Given the description of an element on the screen output the (x, y) to click on. 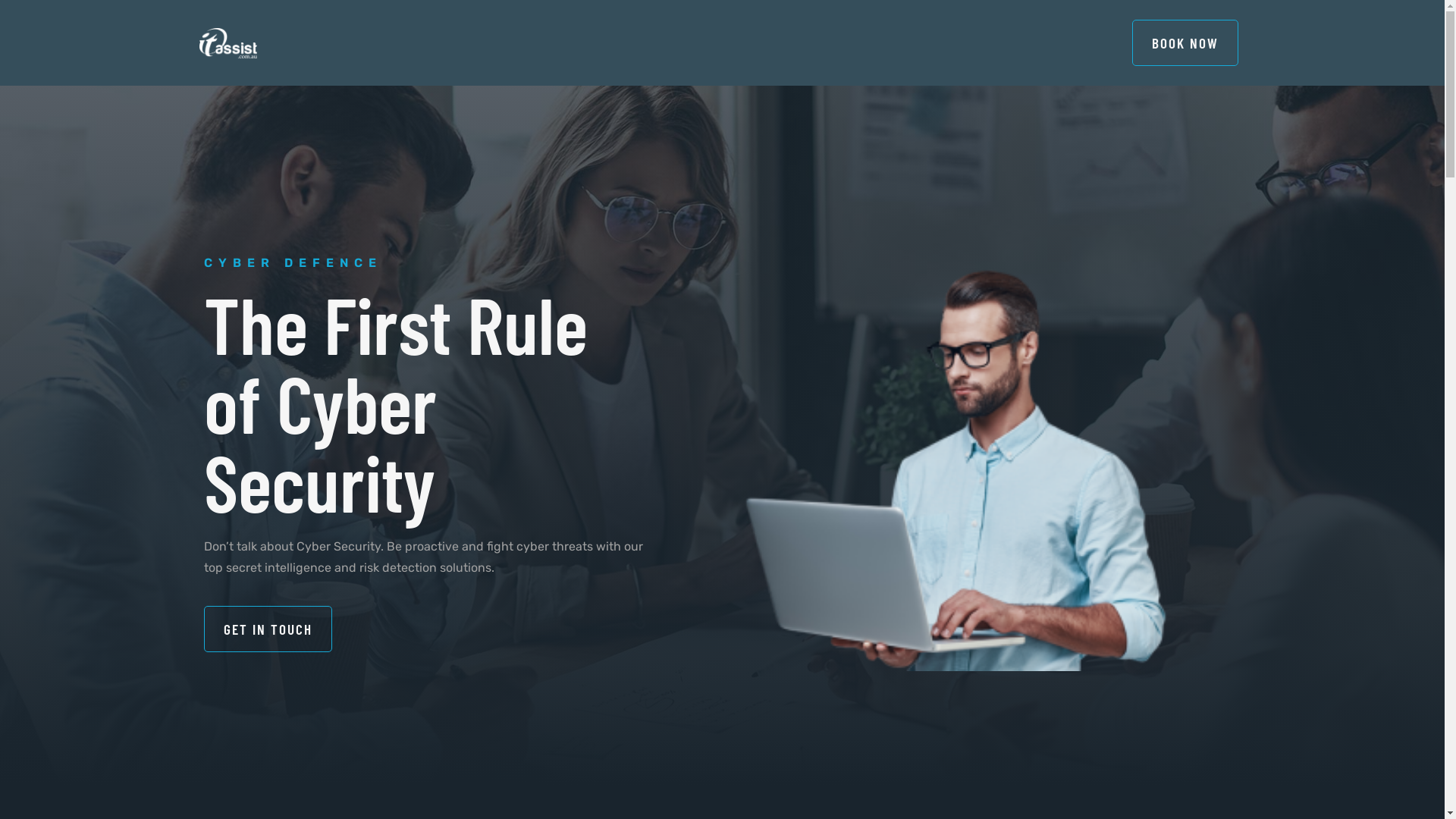
BOOK NOW Element type: text (1185, 42)
P5.png Element type: hover (955, 459)
GET IN TOUCH Element type: text (267, 628)
